Given the description of an element on the screen output the (x, y) to click on. 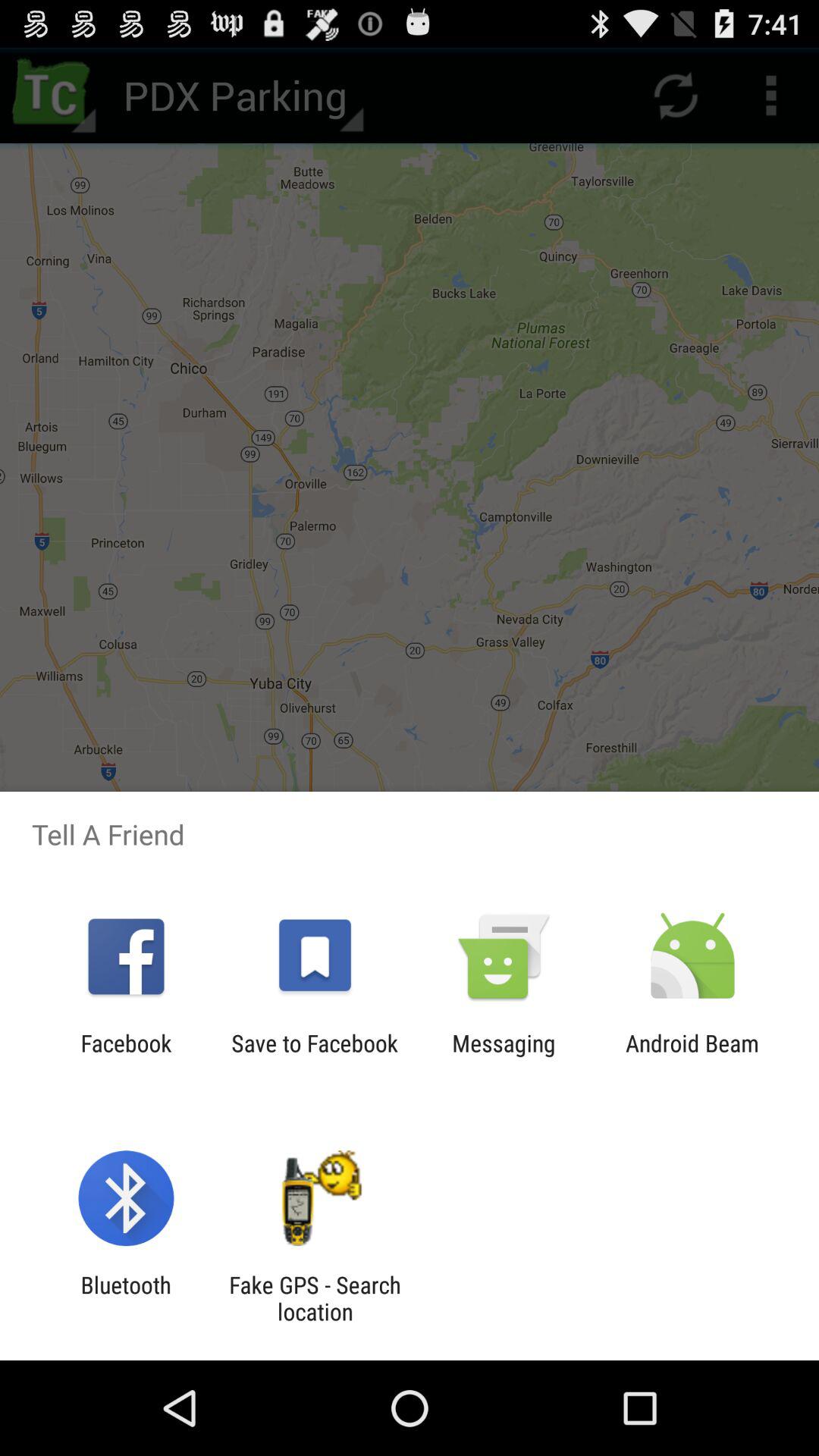
choose the icon next to the android beam icon (503, 1056)
